Given the description of an element on the screen output the (x, y) to click on. 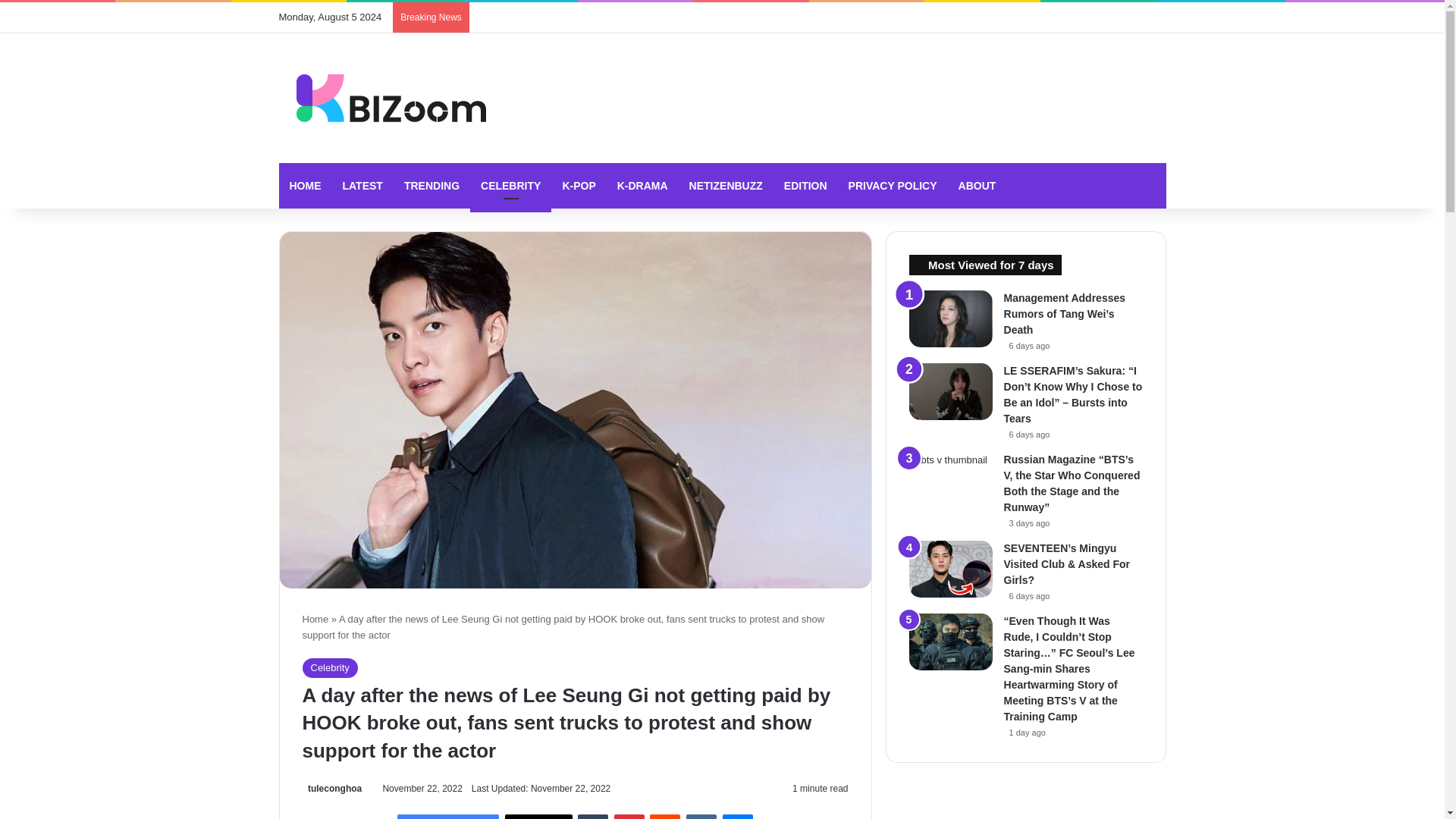
Reddit (664, 816)
TRENDING (431, 185)
Messenger (737, 816)
EDITION (805, 185)
Home (315, 618)
HOME (305, 185)
X (538, 816)
Messenger (737, 816)
KBIZoom (382, 97)
NETIZENBUZZ (725, 185)
tuleconghoa (331, 787)
ABOUT (977, 185)
PRIVACY POLICY (892, 185)
VKontakte (700, 816)
K-POP (578, 185)
